Given the description of an element on the screen output the (x, y) to click on. 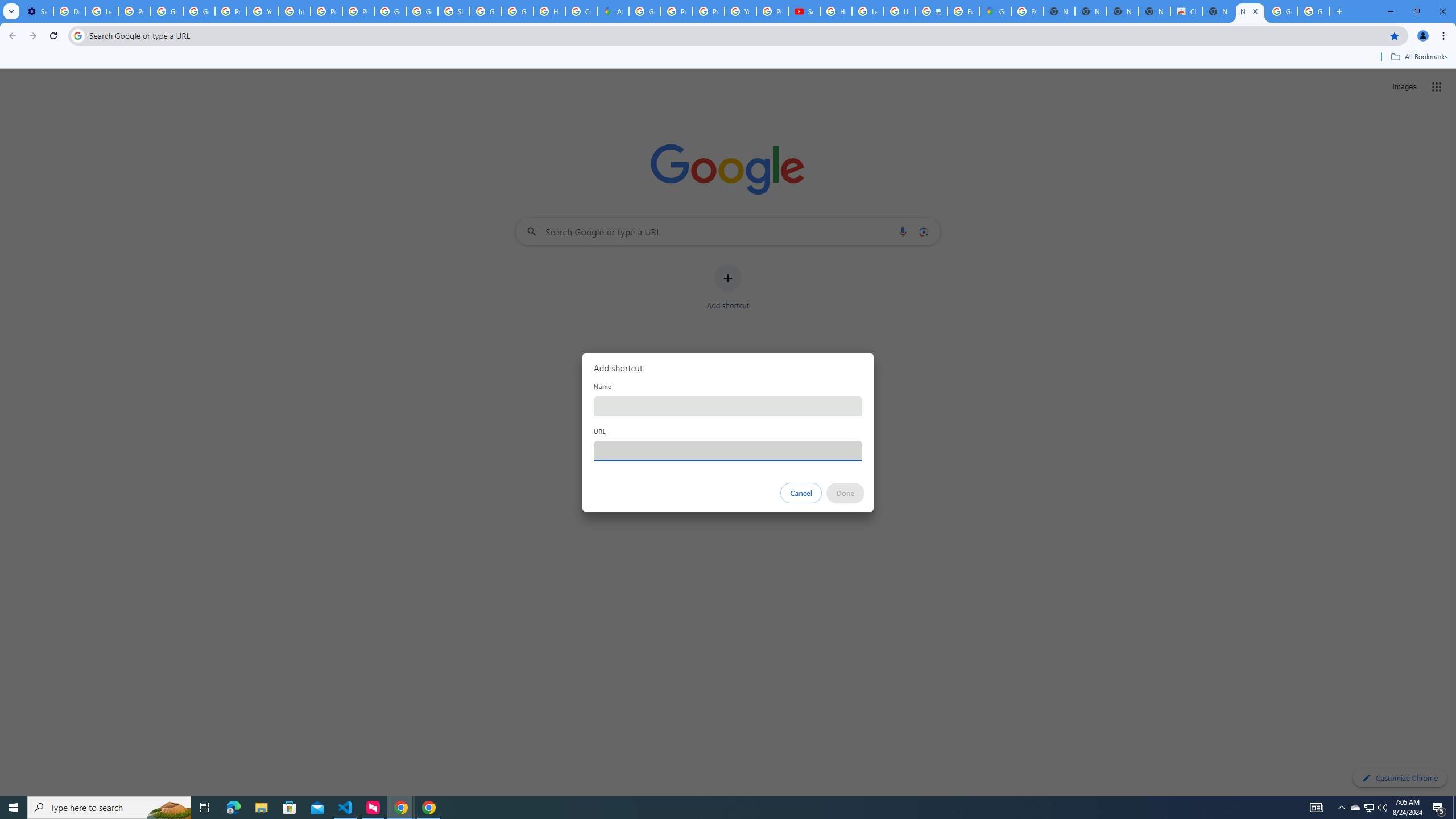
URL (727, 450)
Google Maps (995, 11)
Create your Google Account (581, 11)
Cancel (801, 493)
Done (845, 493)
All Bookmarks (1418, 56)
You (1422, 35)
Address and search bar (735, 35)
